Given the description of an element on the screen output the (x, y) to click on. 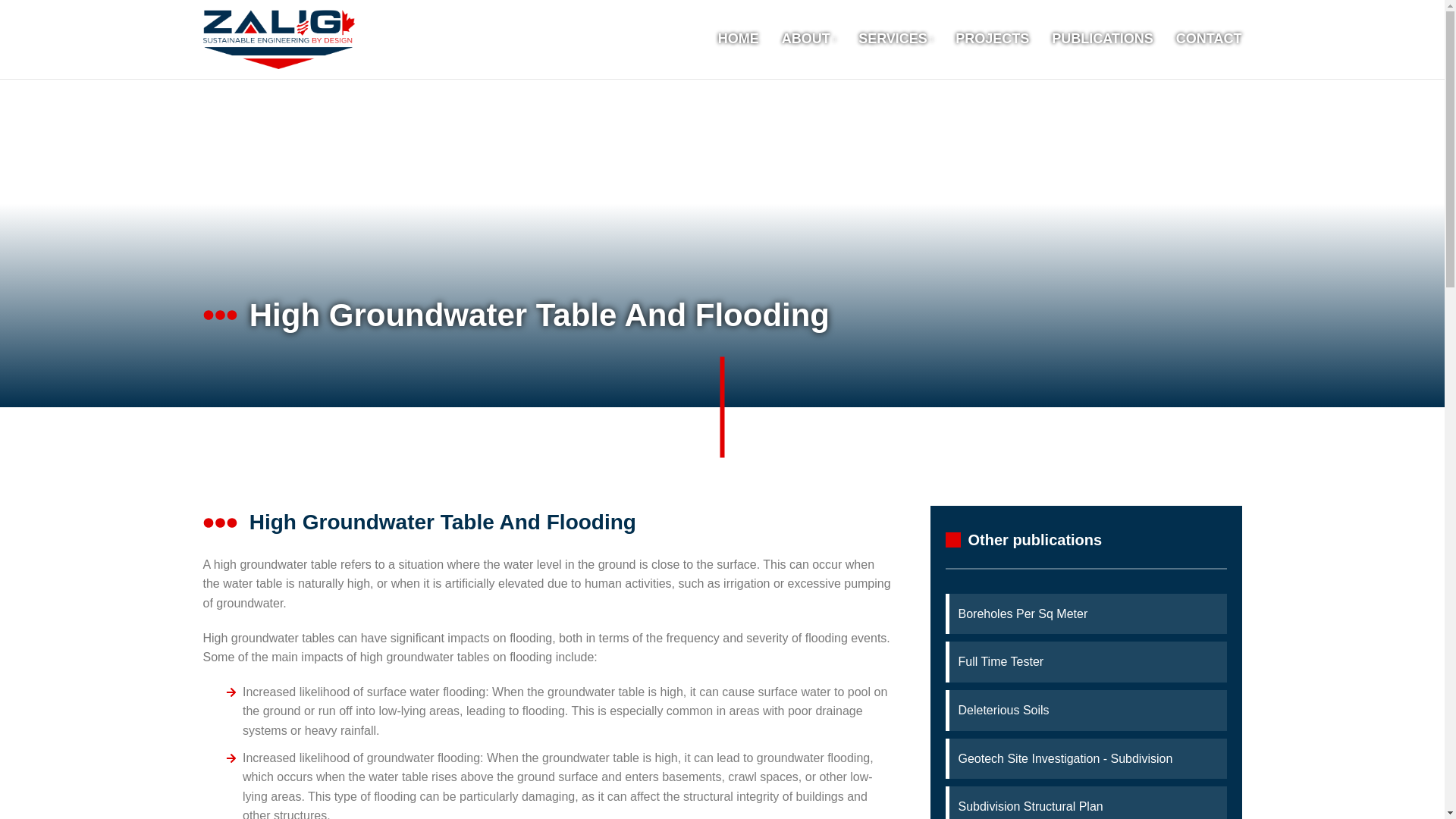
PUBLICATIONS (1102, 39)
Subdivision Structural Plan (1087, 806)
Full Time Tester (1087, 661)
HOME (737, 39)
CONTACT (1208, 39)
PROJECTS (992, 39)
Deleterious Soils (1087, 710)
ABOUT (808, 39)
Geotech Site Investigation - Subdivision (1087, 759)
SERVICES (896, 39)
